Given the description of an element on the screen output the (x, y) to click on. 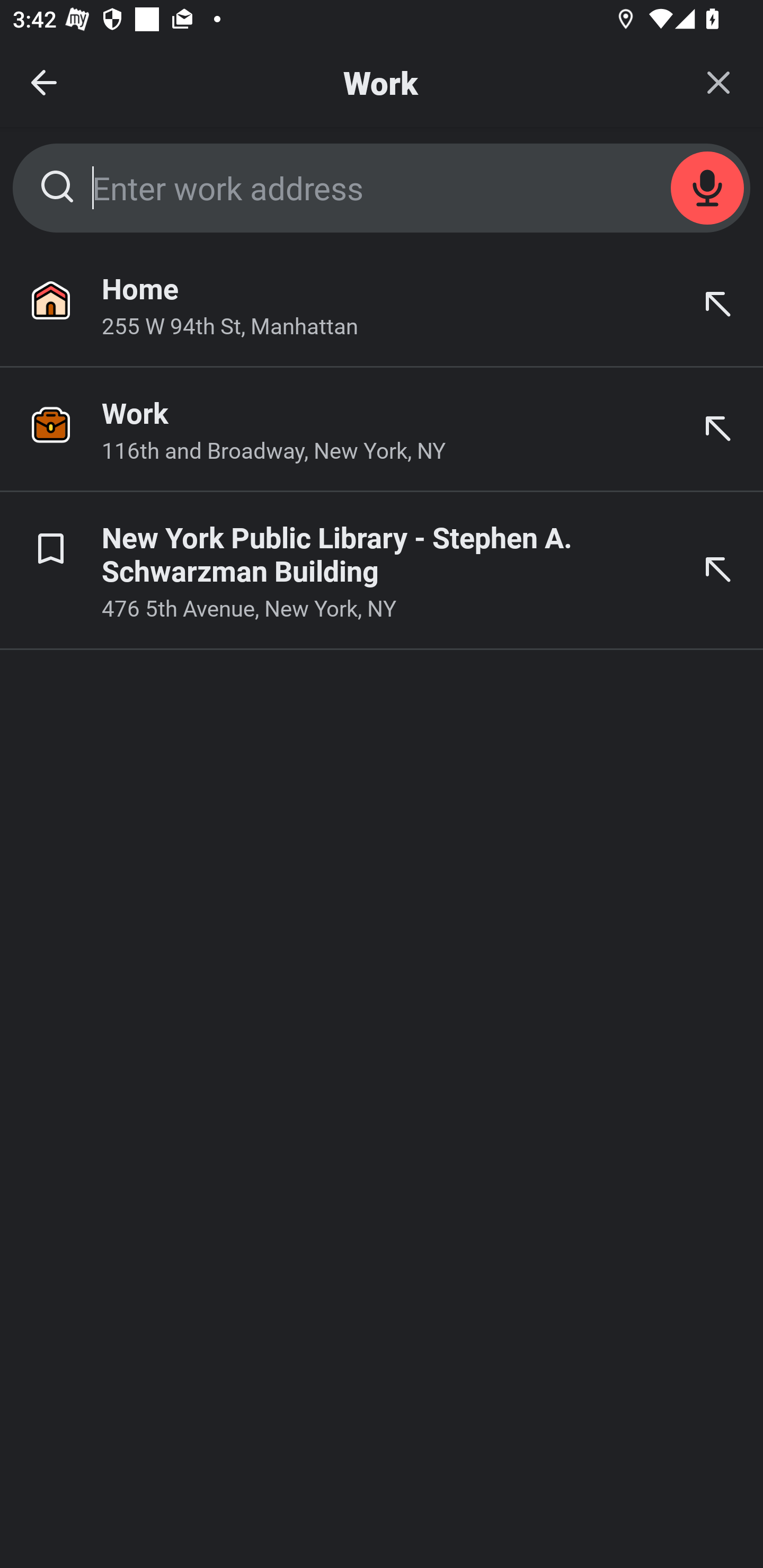
Enter work address (381, 188)
